Given the description of an element on the screen output the (x, y) to click on. 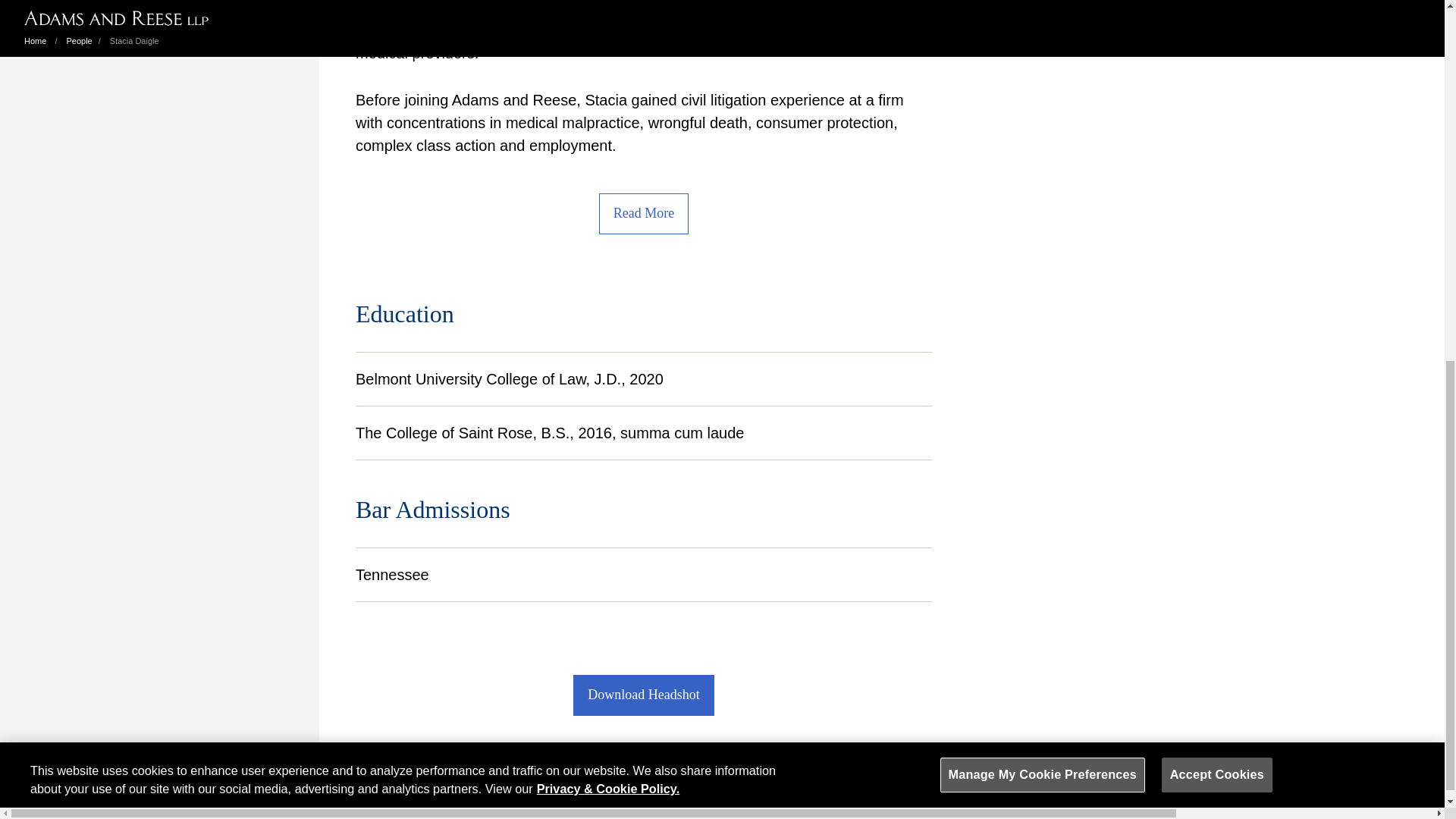
Disclaimer (468, 788)
Contact (346, 788)
Client Pay (403, 788)
Download Headshot (643, 694)
Read More (643, 213)
